Given the description of an element on the screen output the (x, y) to click on. 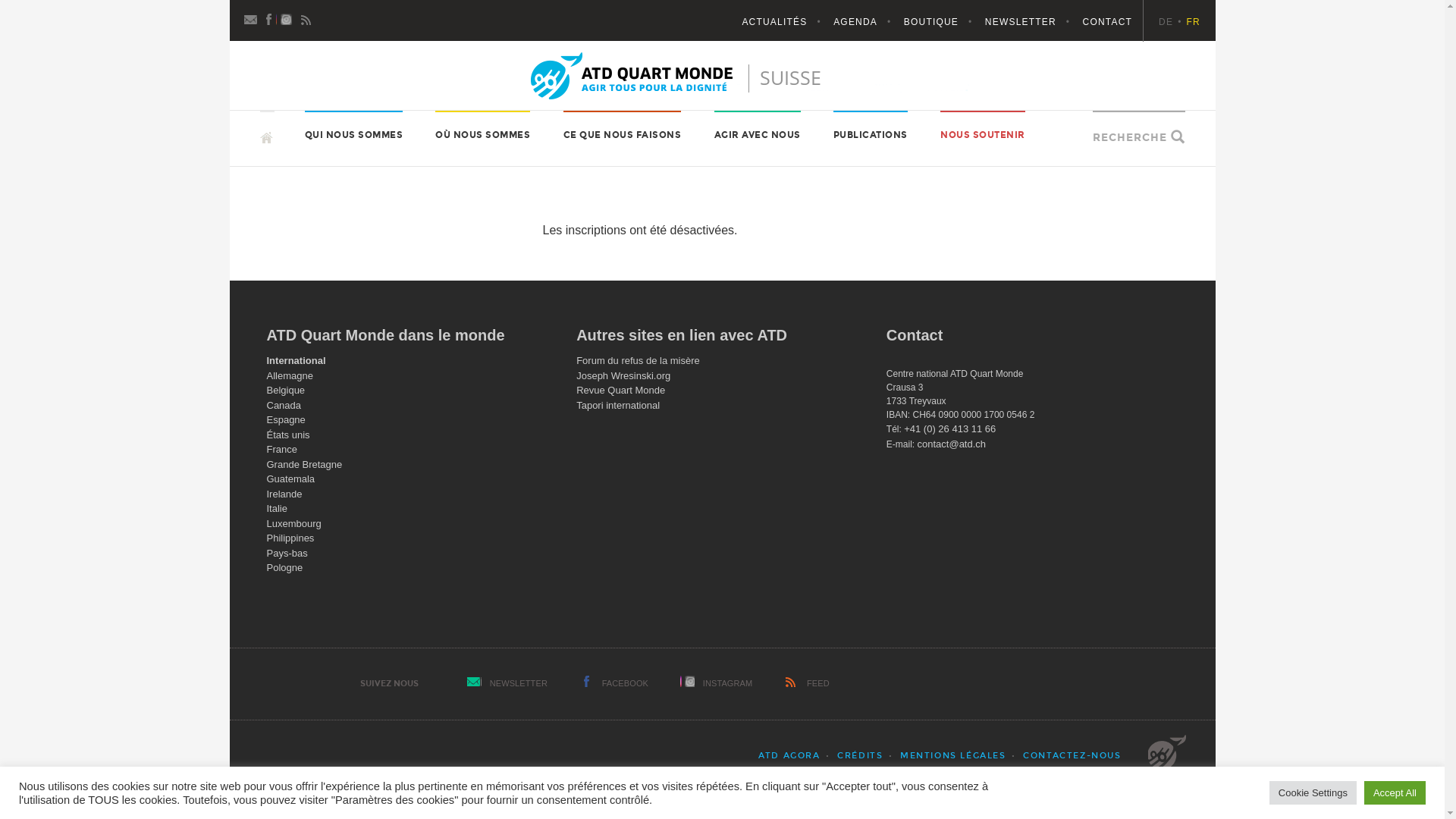
Facebook Element type: hover (269, 17)
ATD HOME Element type: text (307, 139)
QUI NOUS SOMMES Element type: text (353, 134)
AGENDA Element type: text (866, 21)
NEWSLETTER Element type: text (518, 682)
Espagne Element type: text (285, 419)
INSTAGRAM Element type: text (727, 682)
PUBLICATIONS Element type: text (870, 134)
Irelande Element type: text (284, 493)
Pays-bas Element type: text (286, 552)
Italie Element type: text (276, 508)
Guatemala Element type: text (290, 478)
NOUS SOUTENIR Element type: text (982, 134)
International Element type: text (296, 360)
Belgique Element type: text (285, 389)
AGIR AVEC NOUS Element type: text (757, 134)
CE QUE NOUS FAISONS Element type: text (622, 134)
FACEBOOK Element type: text (625, 682)
Grande Bretagne Element type: text (304, 463)
CONTACTEZ-NOUS Element type: text (1071, 755)
BOUTIQUE Element type: text (942, 21)
Canada Element type: text (283, 404)
Newsletter Element type: hover (251, 17)
Pologne Element type: text (284, 567)
+41 (0) 26 413 11 66 Element type: text (949, 428)
RSS Element type: hover (305, 17)
contact@atd.ch Element type: text (951, 443)
Philippines Element type: text (290, 537)
RECHERCHE Element type: text (1129, 137)
Joseph Wresinski.org Element type: text (623, 375)
Allemagne Element type: text (289, 375)
DE Element type: text (1172, 21)
Accept All Element type: text (1394, 792)
Luxembourg Element type: text (293, 522)
ATD AGORA Element type: text (788, 755)
Instagram Element type: hover (287, 17)
  Element type: text (266, 129)
France Element type: text (281, 449)
CONTACT Element type: text (1107, 21)
Cookie Settings Element type: text (1312, 792)
ATD Home Element type: hover (722, 75)
FR Element type: text (1193, 21)
Revue Quart Monde Element type: text (620, 389)
FEED Element type: text (817, 682)
ALLER AU CONTENU PRINCIPAL Element type: text (259, 109)
Tapori international Element type: text (617, 404)
NEWSLETTER Element type: text (1032, 21)
